Given the description of an element on the screen output the (x, y) to click on. 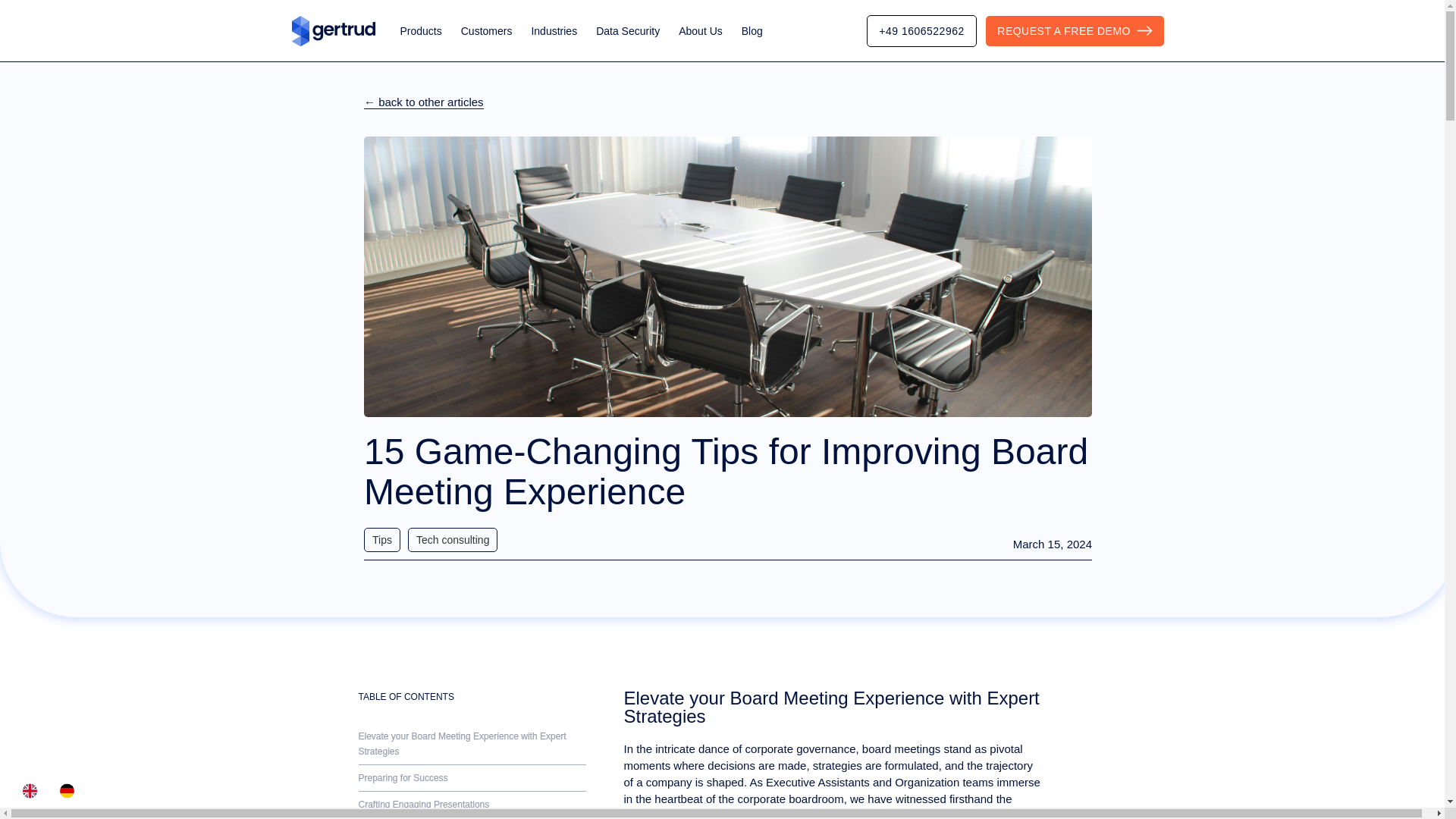
Crafting Engaging Presentations (471, 804)
Products (421, 30)
Customers (486, 30)
Blog (751, 30)
Data Security (627, 30)
REQUEST A FREE DEMO (1074, 30)
Industries (553, 30)
About Us (700, 30)
Preparing for Success (471, 777)
Elevate your Board Meeting Experience with Expert Strategies (471, 743)
